Given the description of an element on the screen output the (x, y) to click on. 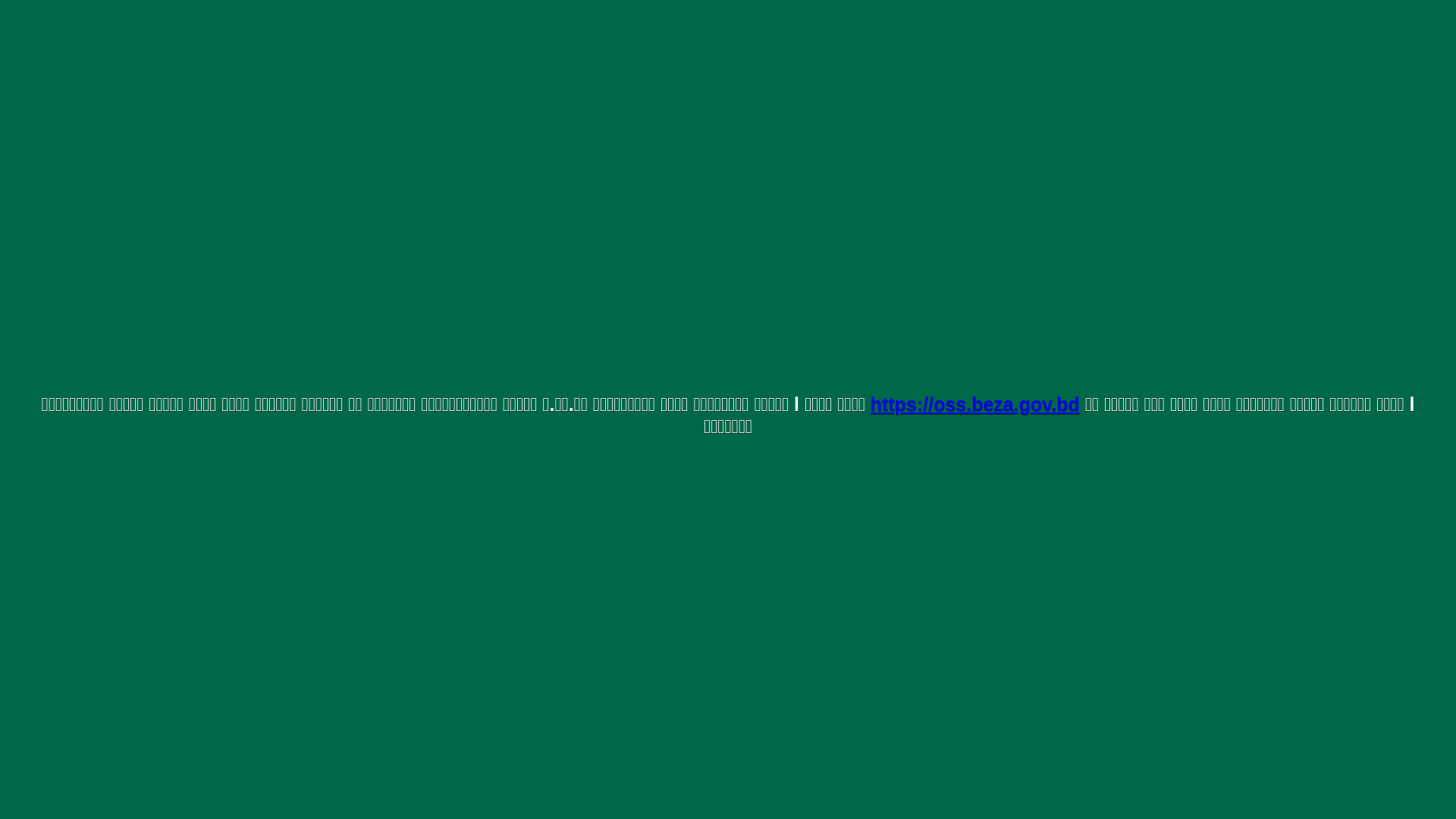
https://oss.beza.gov.bd Element type: text (974, 403)
